Given the description of an element on the screen output the (x, y) to click on. 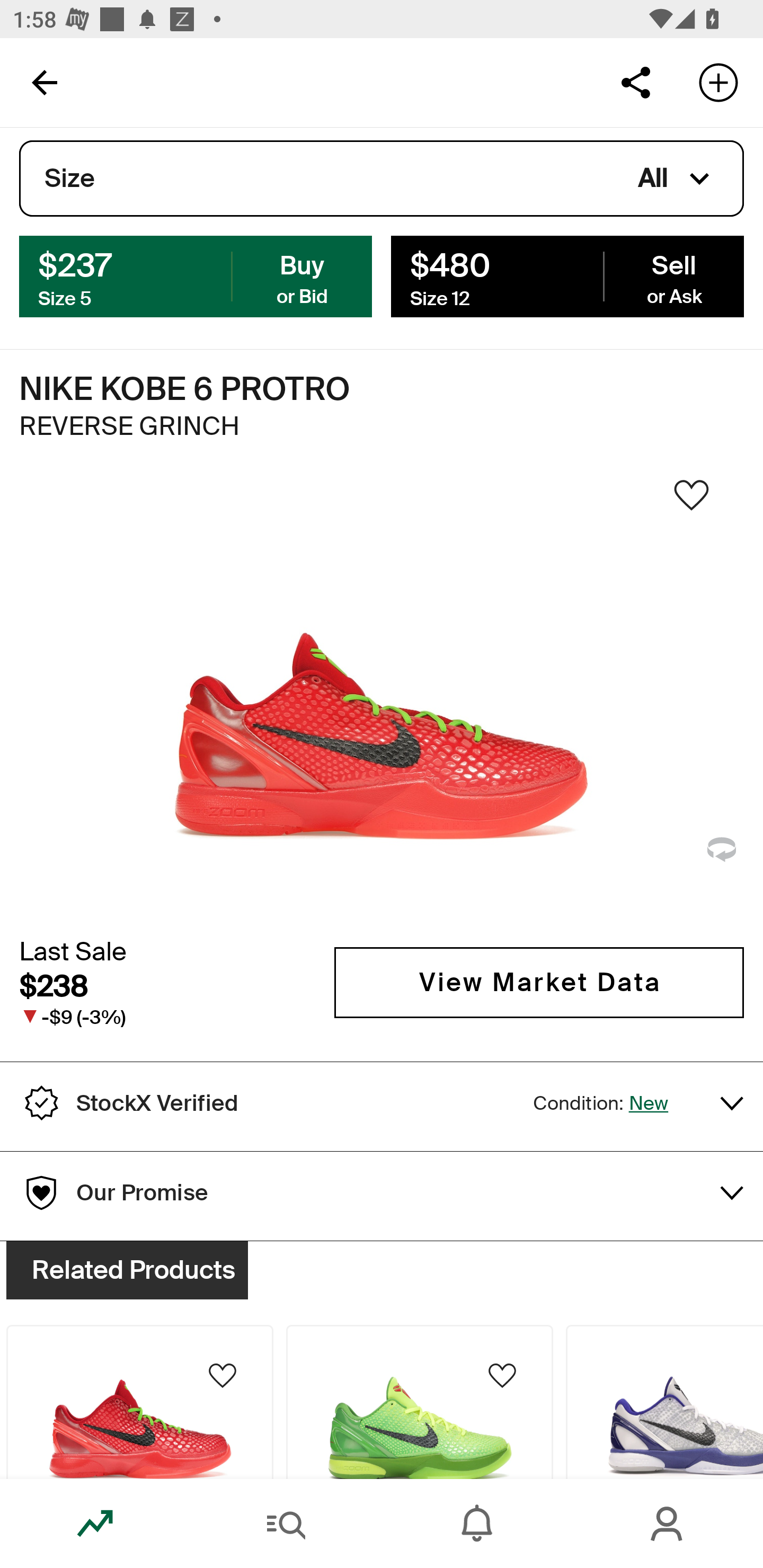
Share (635, 81)
Add (718, 81)
Size All (381, 178)
$237 Buy Size 5 or Bid (195, 275)
$480 Sell Size 12 or Ask (566, 275)
Sneaker Image (381, 699)
View Market Data (538, 982)
Product Image (139, 1401)
Product Image (419, 1401)
Product Image (664, 1401)
Search (285, 1523)
Inbox (476, 1523)
Account (667, 1523)
